Given the description of an element on the screen output the (x, y) to click on. 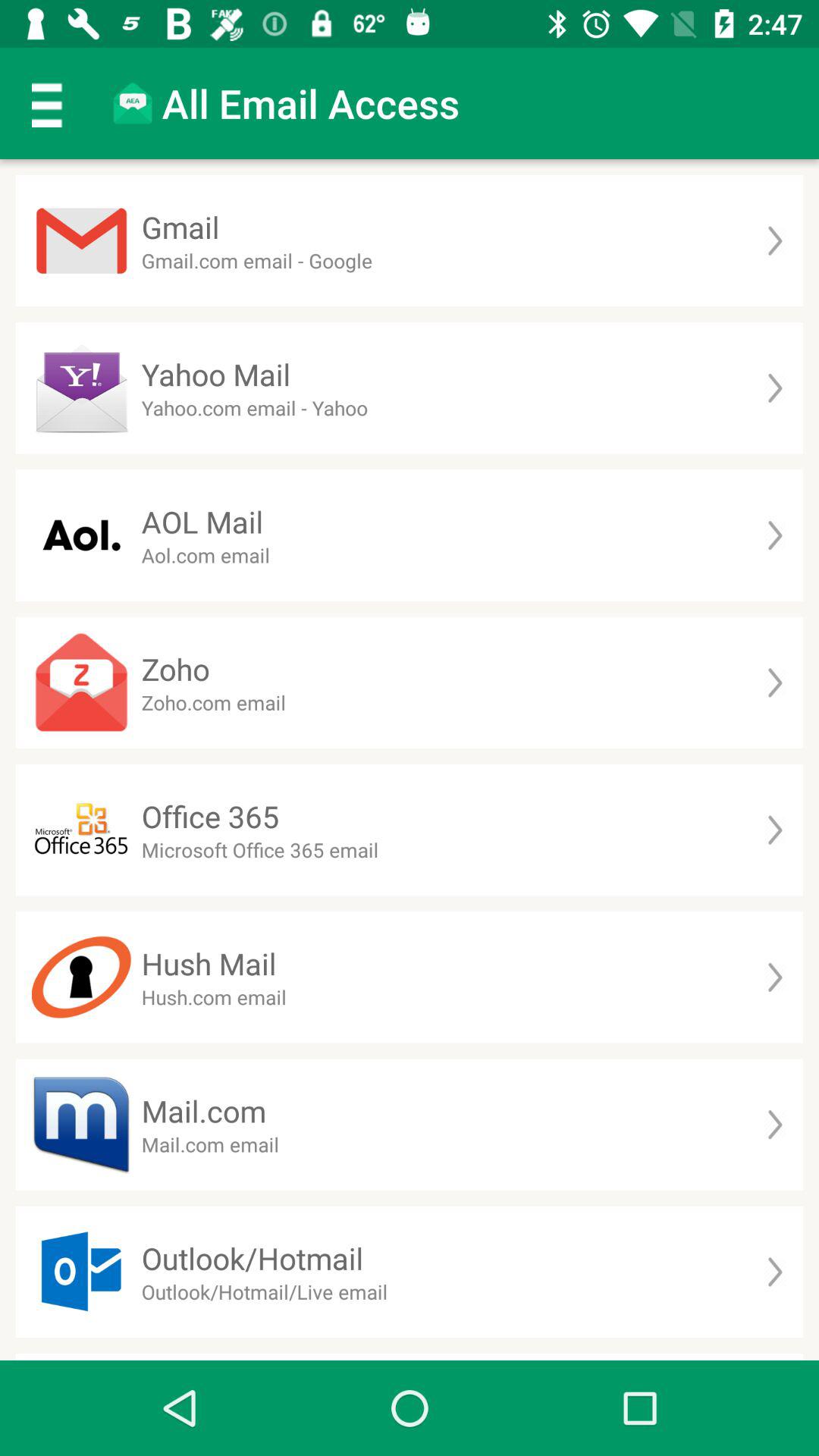
press the app above the yahoo com email (215, 374)
